Given the description of an element on the screen output the (x, y) to click on. 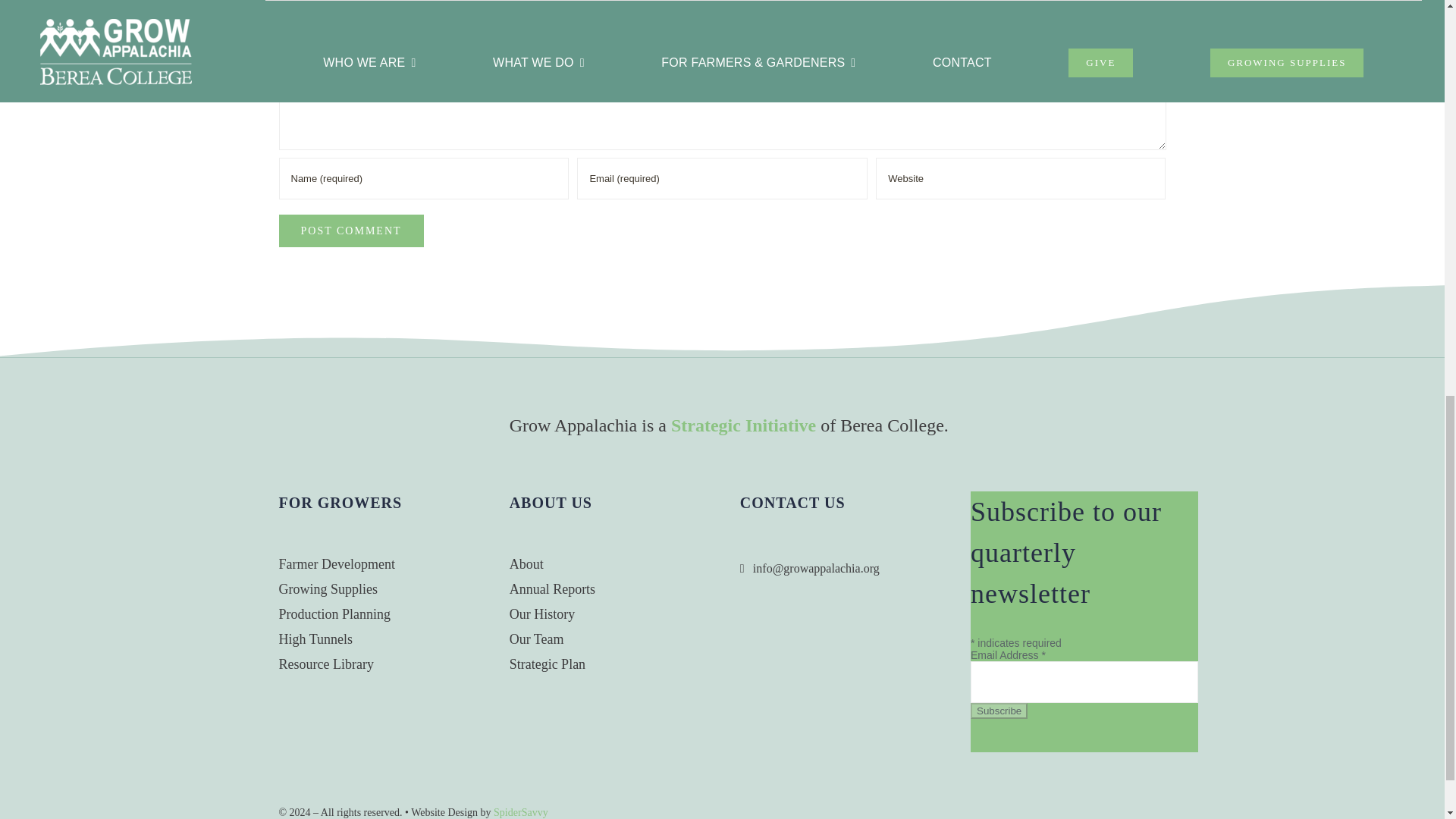
Subscribe (999, 710)
Post Comment (351, 230)
